Given the description of an element on the screen output the (x, y) to click on. 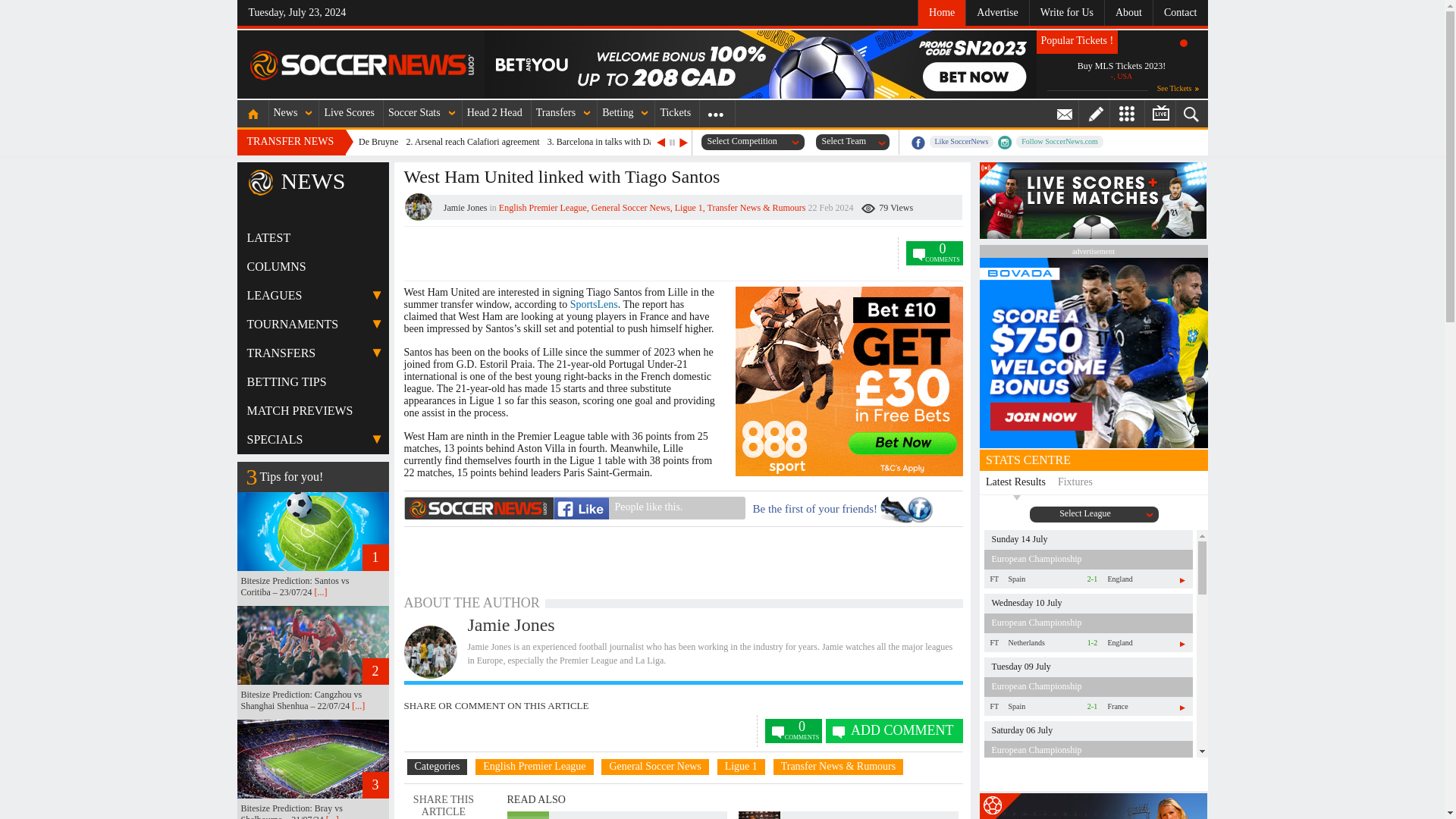
Home (251, 112)
Home (941, 12)
Betting (619, 112)
More (715, 112)
Scores (349, 112)
Transfers (557, 112)
Soccer News (362, 65)
Tickets (676, 112)
News (286, 112)
See Tickets (1178, 88)
Stats (416, 112)
